Given the description of an element on the screen output the (x, y) to click on. 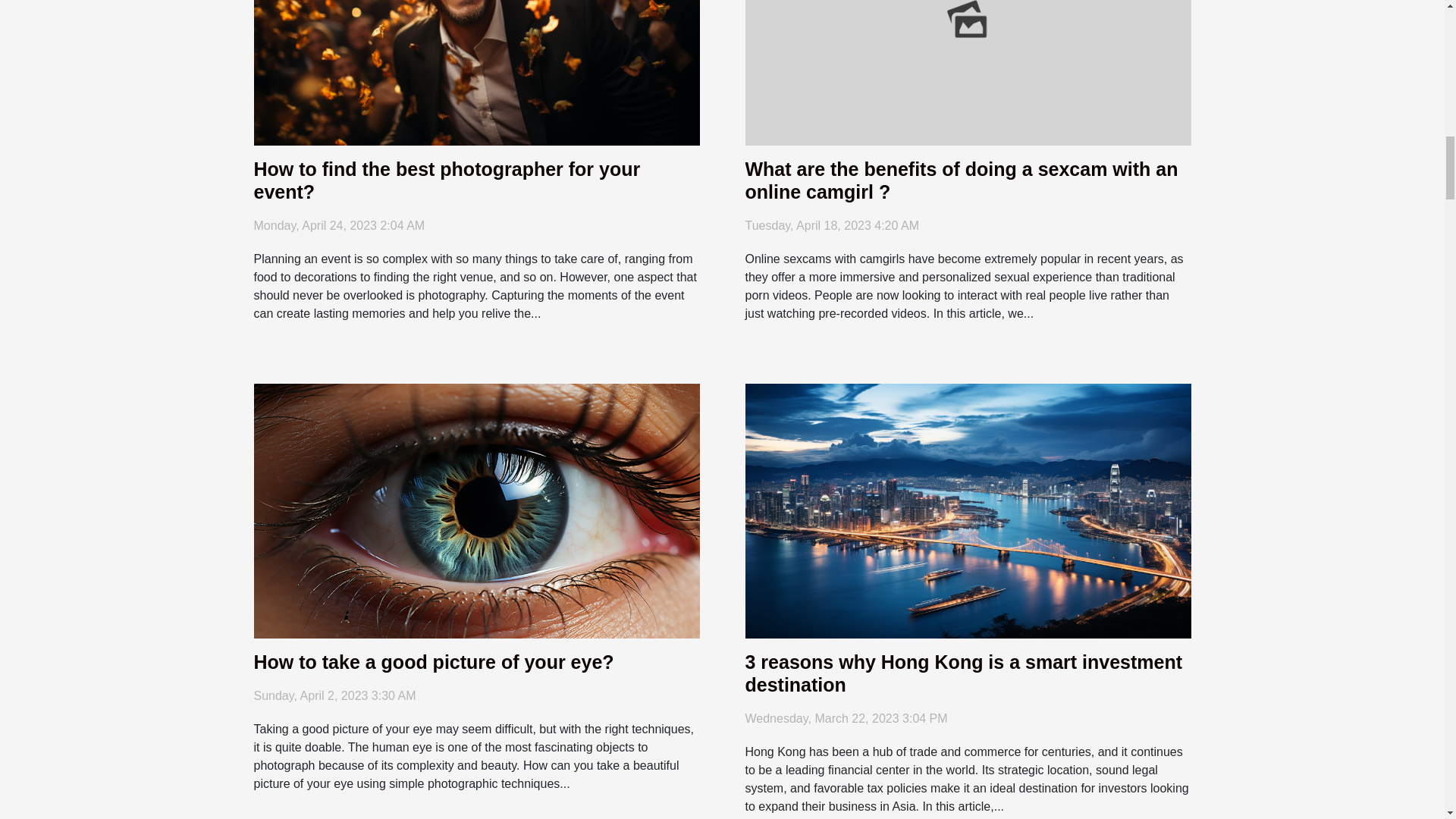
How to take a good picture of your eye? (432, 661)
How to take a good picture of your eye? (475, 509)
How to take a good picture of your eye? (432, 661)
3 reasons why Hong Kong is a smart investment destination (963, 673)
How to find the best photographer for your event? (446, 180)
3 reasons why Hong Kong is a smart investment destination (963, 673)
3 reasons why Hong Kong is a smart investment destination (967, 509)
How to find the best photographer for your event? (446, 180)
How to find the best photographer for your event? (475, 16)
